Given the description of an element on the screen output the (x, y) to click on. 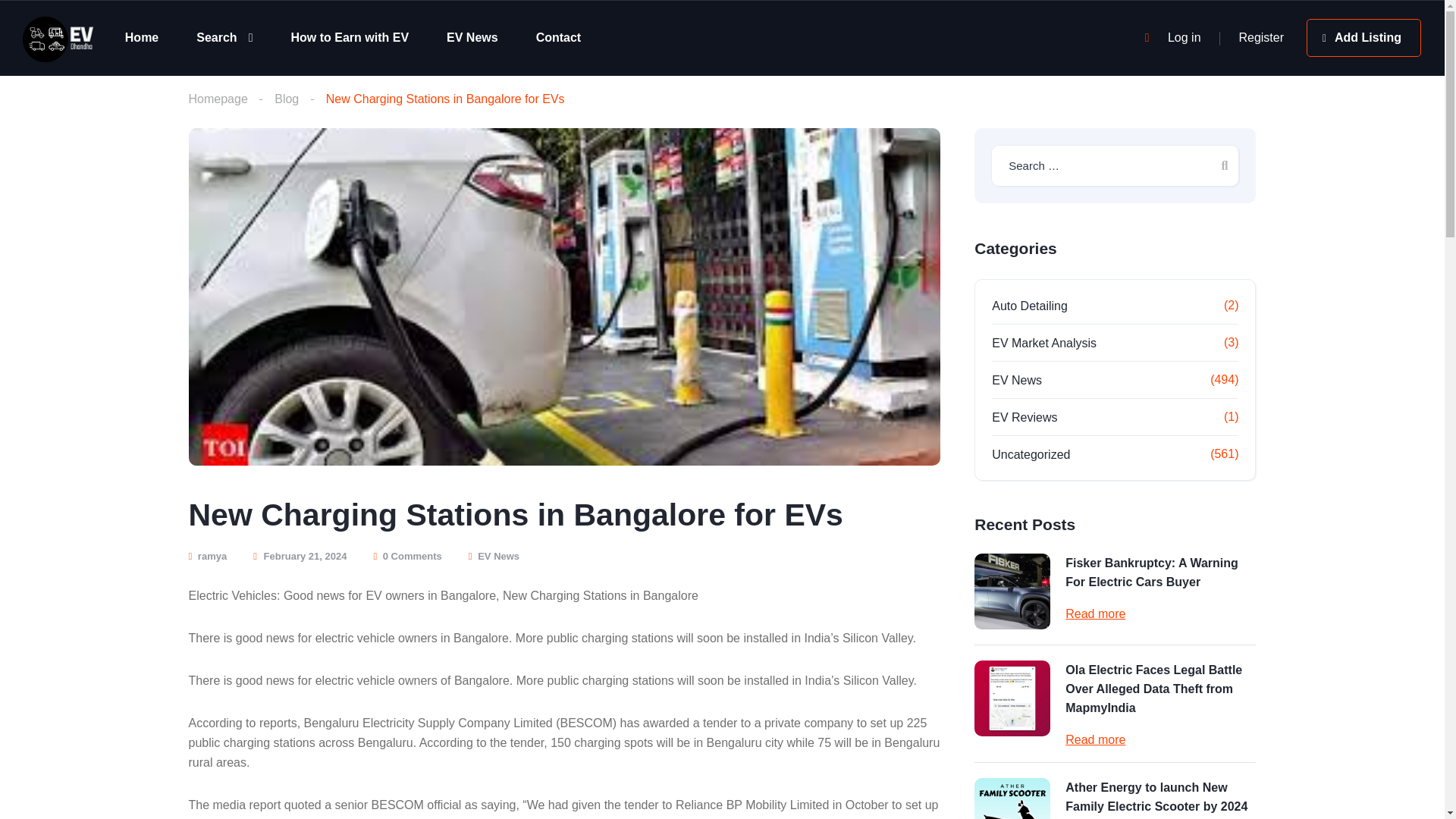
How to Earn with EV (349, 36)
ramya (207, 555)
EV Reviews (1039, 416)
How to Earn with EV (349, 36)
Blog (286, 98)
EV News (1031, 380)
Homepage (217, 98)
EV Dhandha (58, 38)
EV News (498, 555)
Homepage (217, 98)
Log in (1185, 37)
EV Market Analysis (1058, 342)
Uncategorized (1045, 454)
Search (223, 36)
Register (1261, 37)
